Given the description of an element on the screen output the (x, y) to click on. 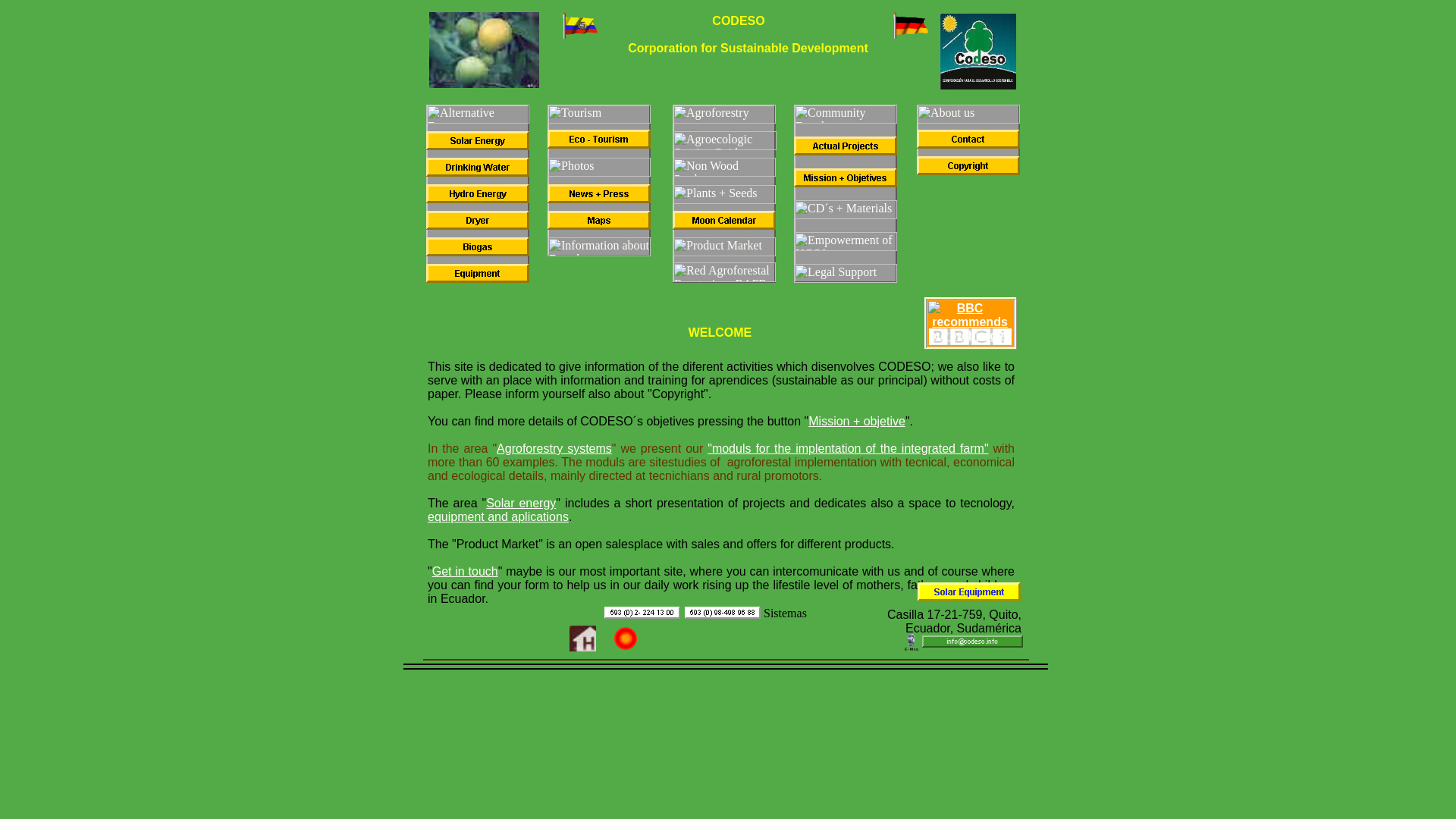
equipment and aplications (498, 516)
BBC recommends our webpages (969, 322)
Agroforestry systems (553, 448)
Get in touch (464, 571)
Solar energy (521, 502)
"moduls for the implentation of the integrated farm" (847, 448)
